Given the description of an element on the screen output the (x, y) to click on. 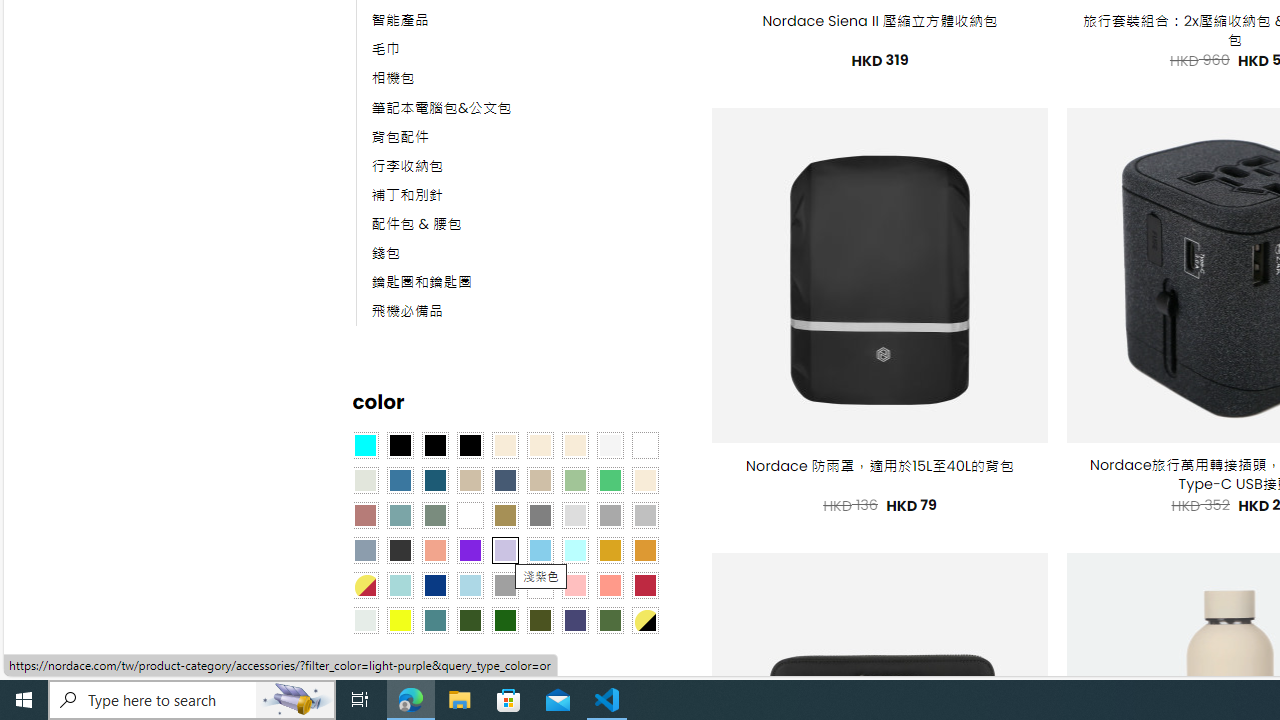
Cream (574, 444)
